Given the description of an element on the screen output the (x, y) to click on. 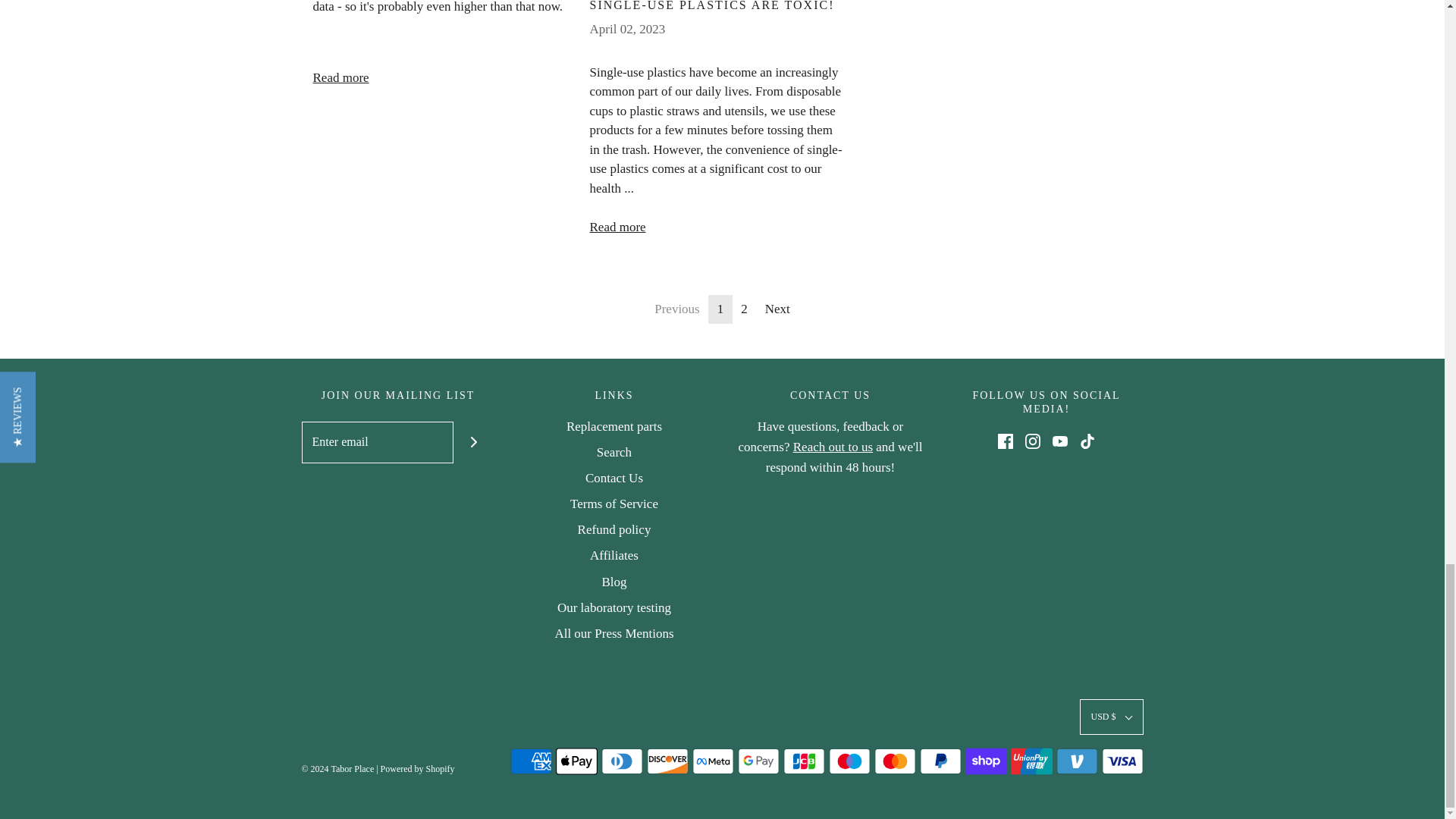
Meta Pay (712, 761)
Diners Club (620, 761)
Discover (666, 761)
Apple Pay (575, 761)
Google Pay (757, 761)
JCB (803, 761)
YouTube icon (1059, 441)
Instagram icon (1033, 441)
American Express (530, 761)
TikTok icon (1087, 441)
Facebook icon (1005, 441)
